Given the description of an element on the screen output the (x, y) to click on. 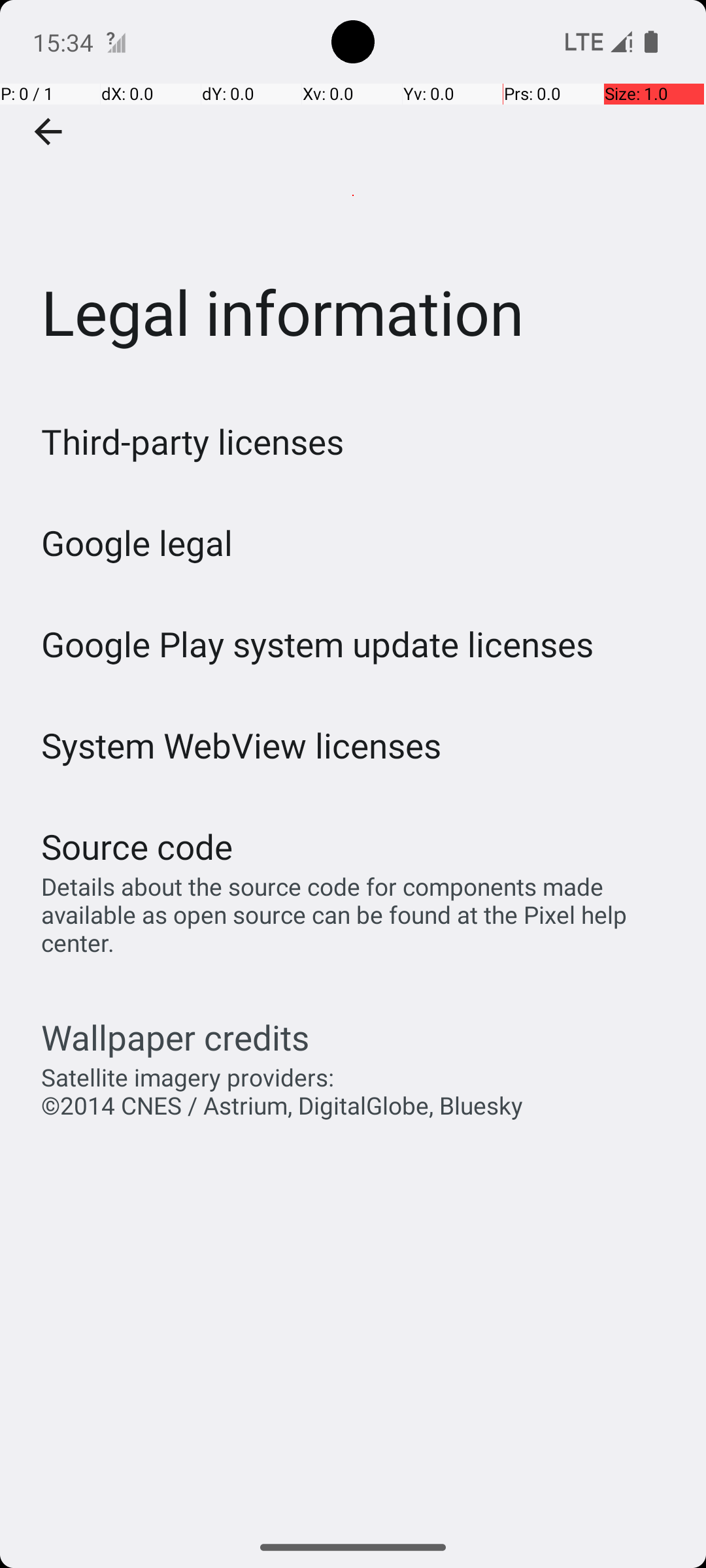
Legal information Element type: android.widget.FrameLayout (353, 195)
Third-party licenses Element type: android.widget.TextView (192, 441)
Google legal Element type: android.widget.TextView (136, 542)
Google Play system update licenses Element type: android.widget.TextView (317, 643)
System WebView licenses Element type: android.widget.TextView (241, 744)
Source code Element type: android.widget.TextView (136, 846)
Details about the source code for components made available as open source can be found at the Pixel help center. Element type: android.widget.TextView (359, 914)
Wallpaper credits Element type: android.widget.TextView (175, 1036)
Satellite imagery providers:
©2014 CNES / Astrium, DigitalGlobe, Bluesky Element type: android.widget.TextView (281, 1090)
